Given the description of an element on the screen output the (x, y) to click on. 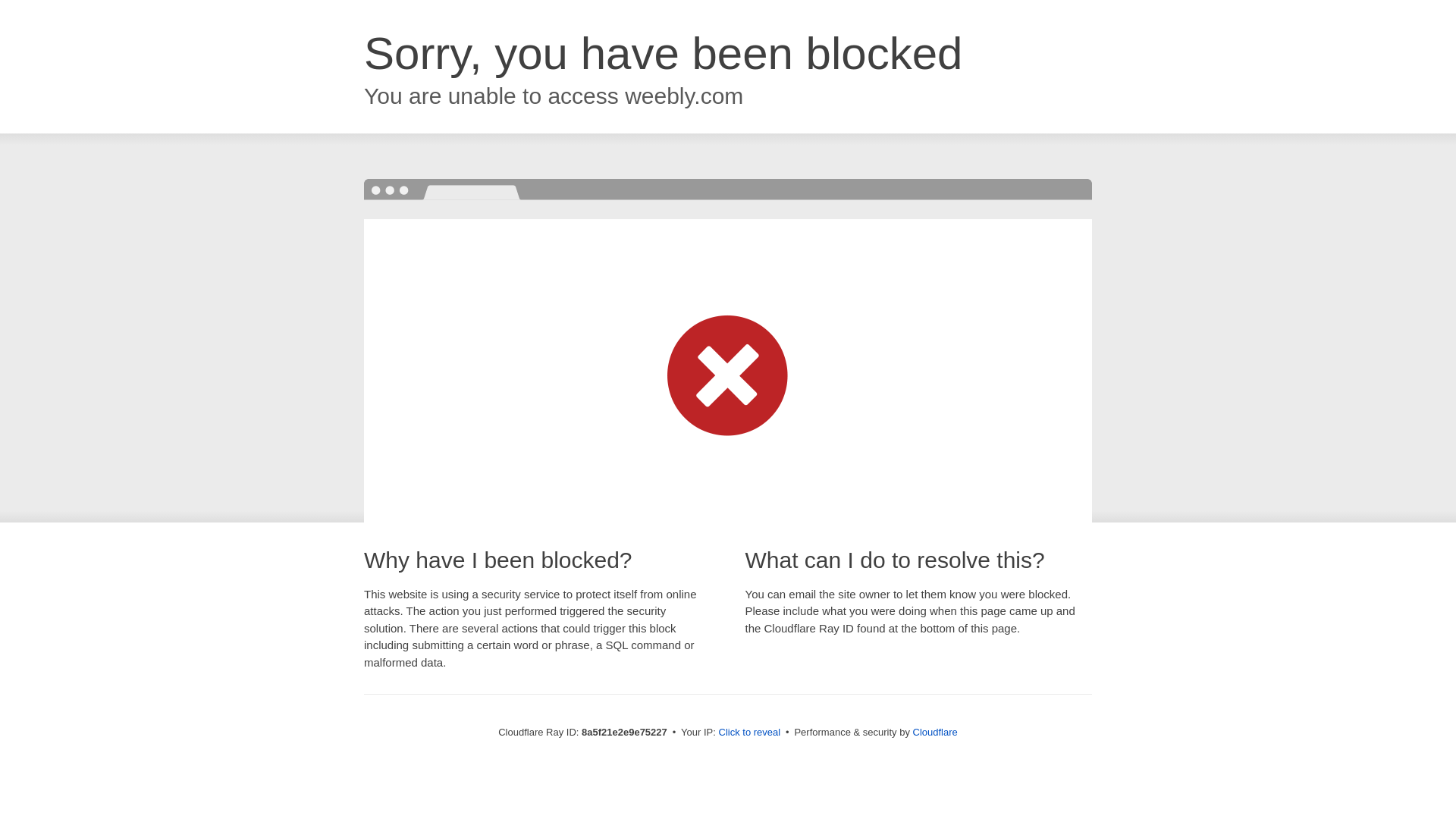
Cloudflare (935, 731)
Click to reveal (749, 732)
